Given the description of an element on the screen output the (x, y) to click on. 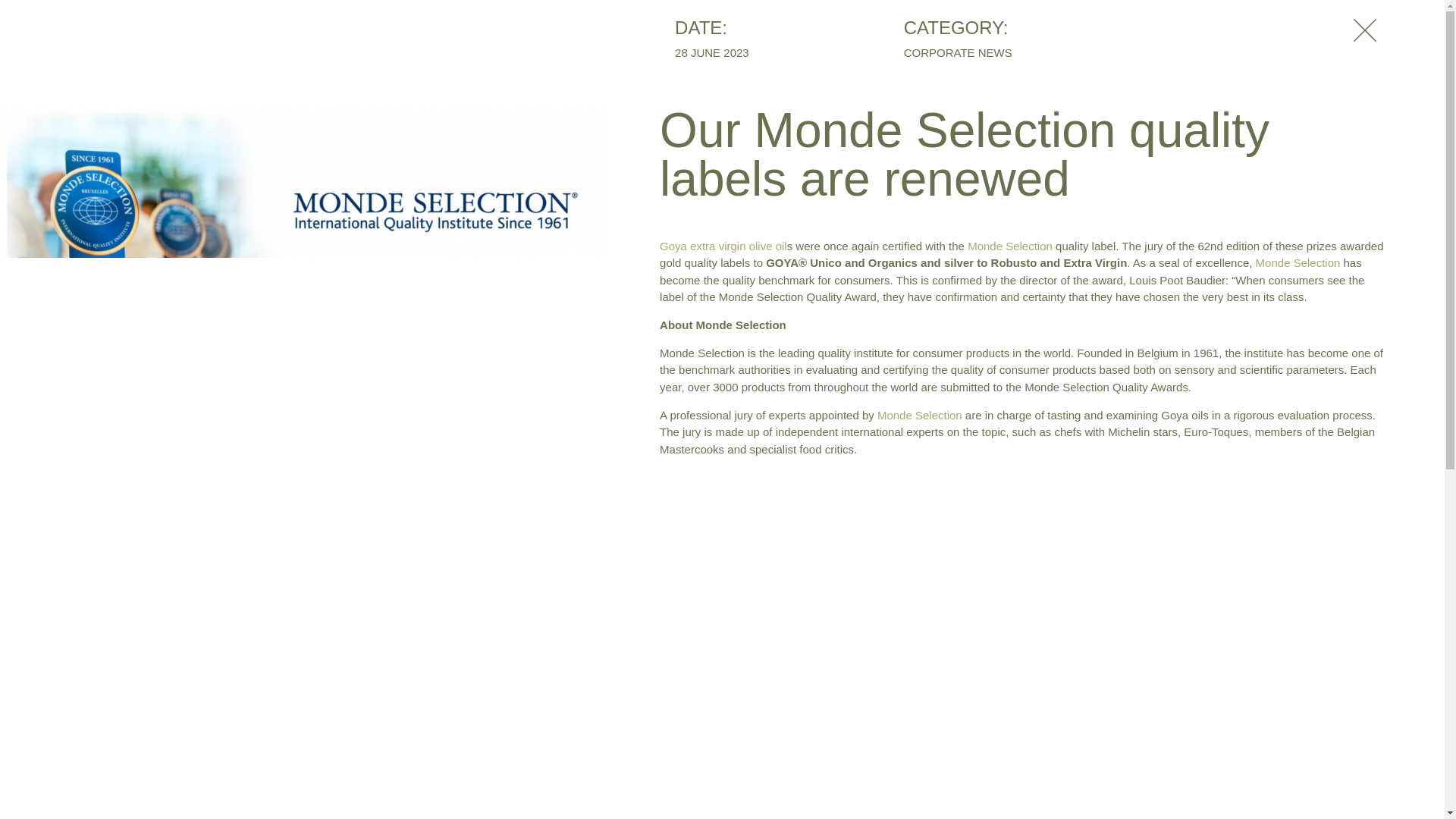
Monde Selection (1010, 245)
CORPORATE NEWS (957, 53)
Goya extra virgin olive oil (723, 245)
Monde Selection (1297, 262)
Monde Selection (919, 414)
